Given the description of an element on the screen output the (x, y) to click on. 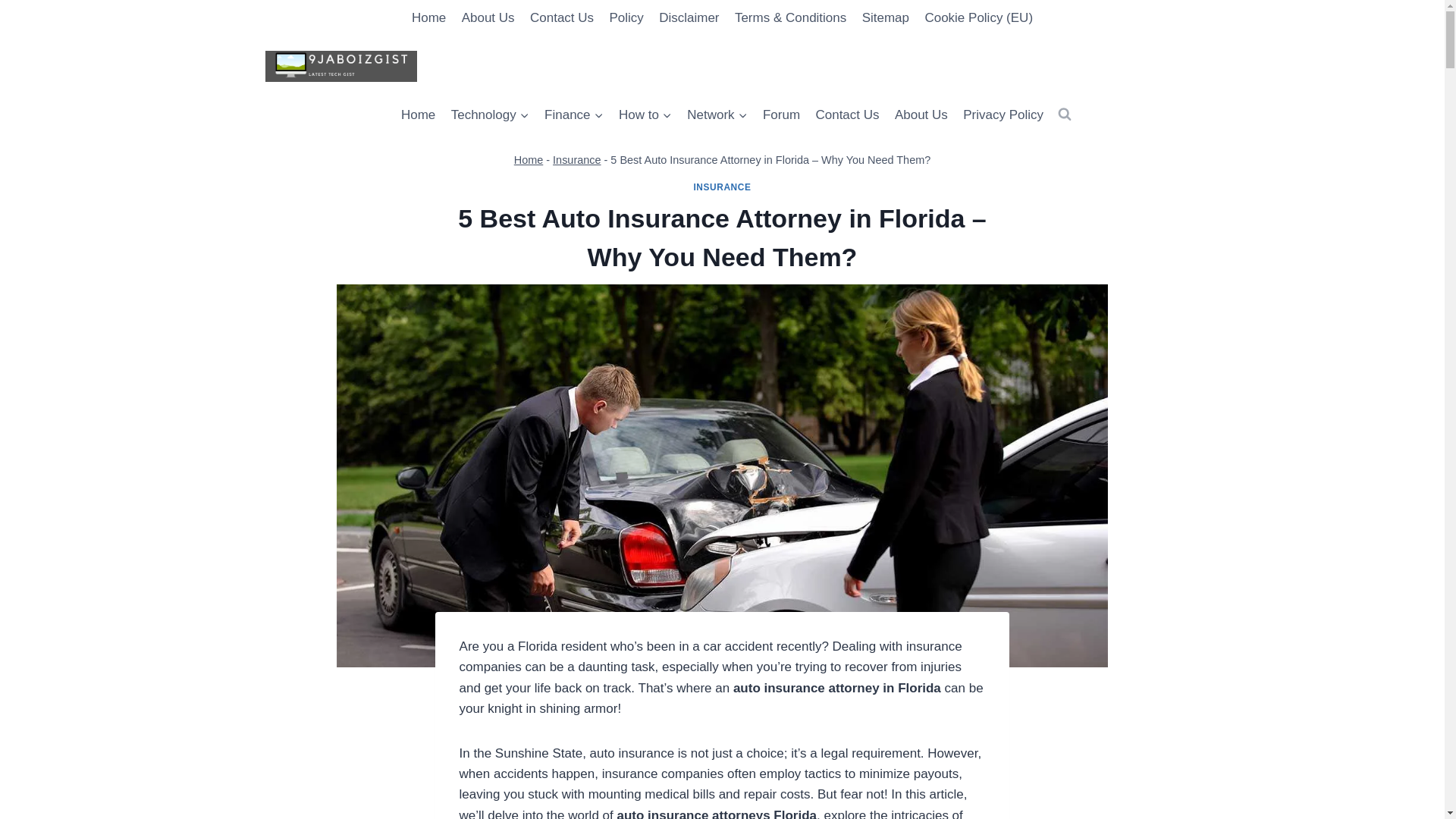
About Us (486, 18)
Network (717, 115)
Privacy Policy (1003, 115)
Finance (574, 115)
Home (418, 115)
Contact Us (847, 115)
Home (429, 18)
Technology (488, 115)
Forum (781, 115)
How to (645, 115)
